Given the description of an element on the screen output the (x, y) to click on. 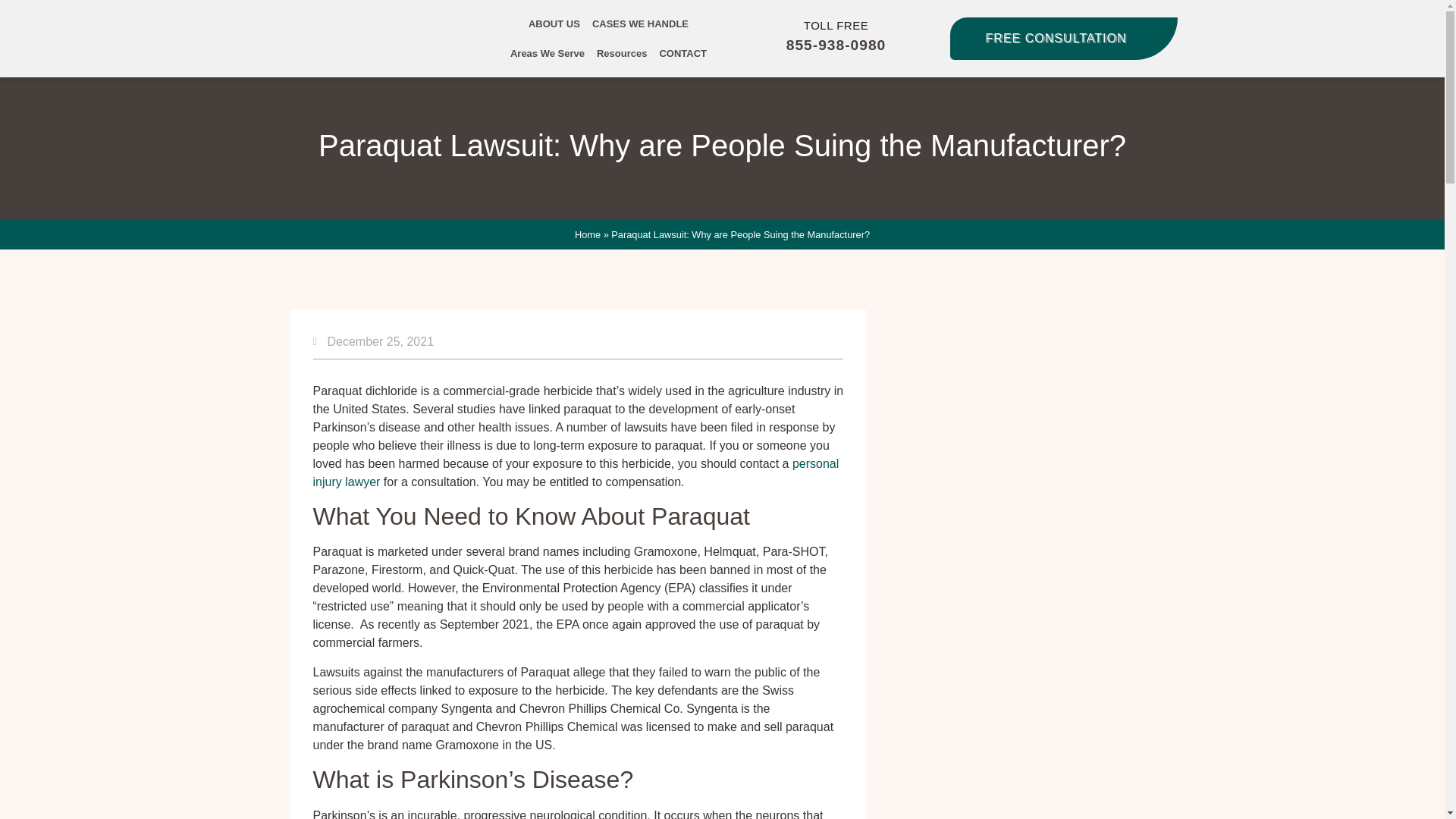
ABOUT US (554, 23)
Resources (621, 52)
Areas We Serve (547, 52)
CONTACT (682, 52)
CASES WE HANDLE (640, 23)
